Given the description of an element on the screen output the (x, y) to click on. 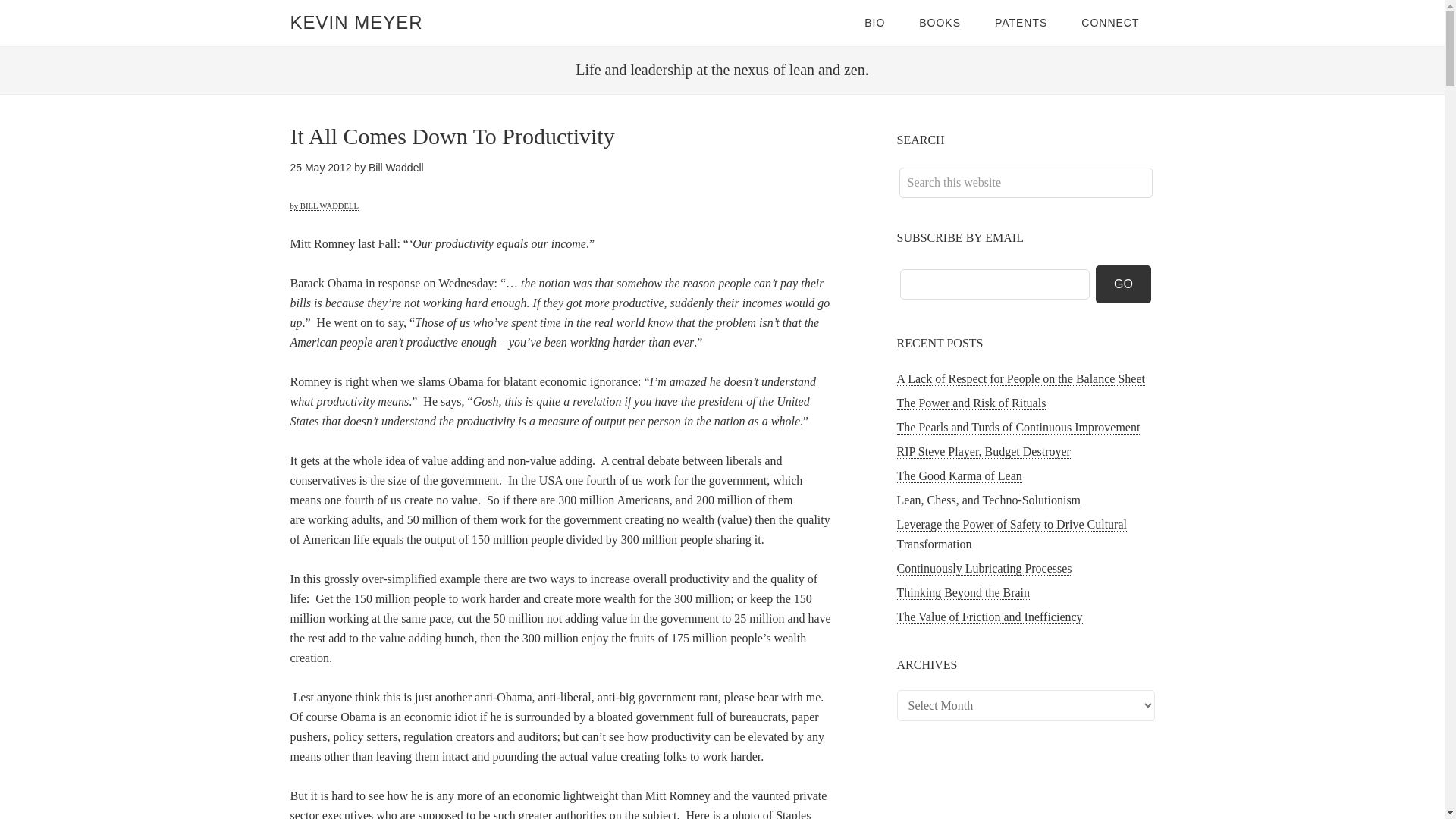
KEVIN MEYER (355, 22)
PATENTS (1020, 22)
by BILL WADDELL (323, 205)
Bill Waddell (395, 167)
BIO (873, 22)
BOOKS (939, 22)
Barack Obama in response on Wednesday (391, 283)
Go (1123, 284)
